Given the description of an element on the screen output the (x, y) to click on. 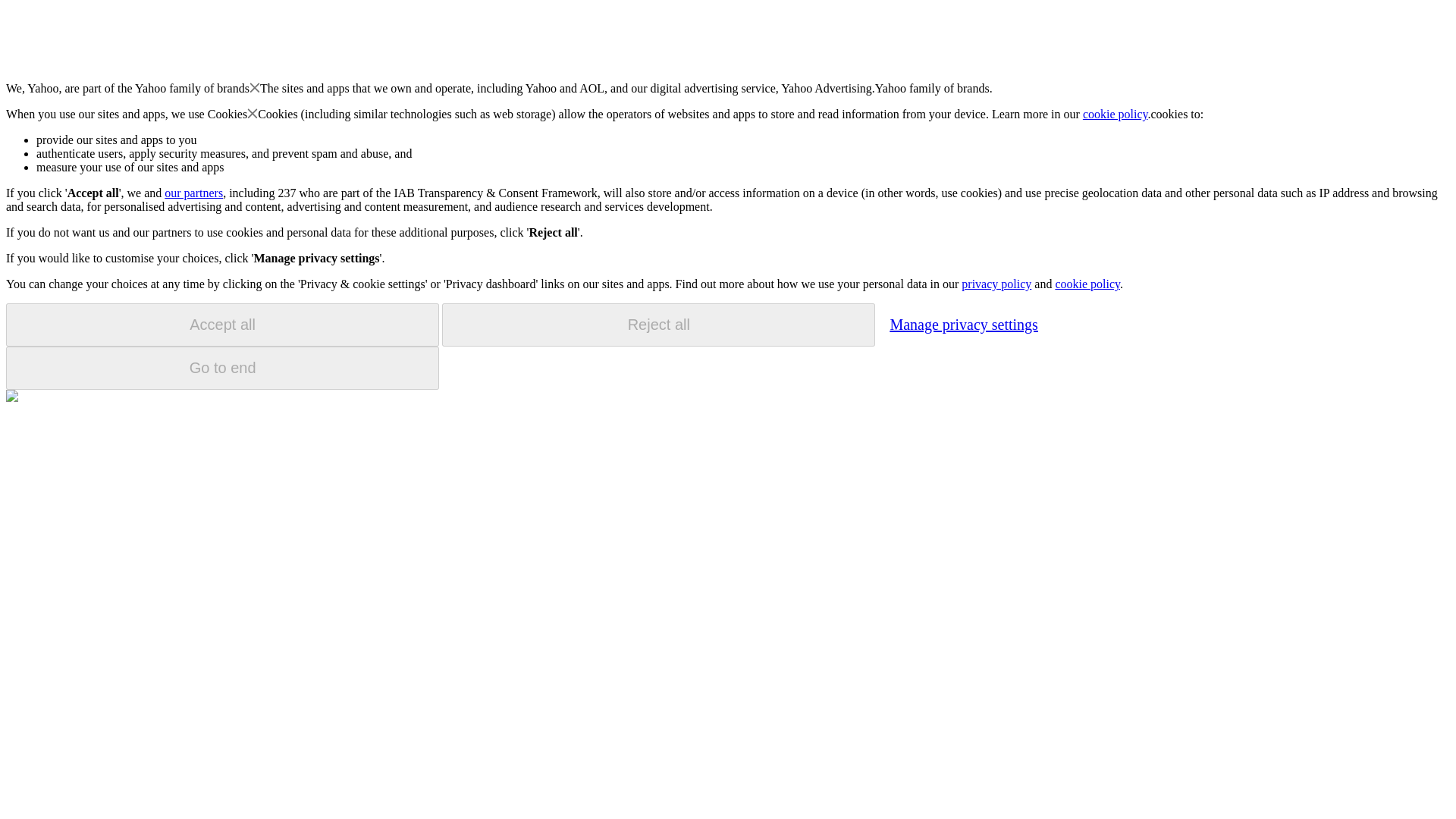
Reject all (658, 324)
cookie policy (1115, 113)
Manage privacy settings (963, 323)
Accept all (222, 324)
Go to end (222, 367)
cookie policy (1086, 283)
privacy policy (995, 283)
our partners (193, 192)
